Given the description of an element on the screen output the (x, y) to click on. 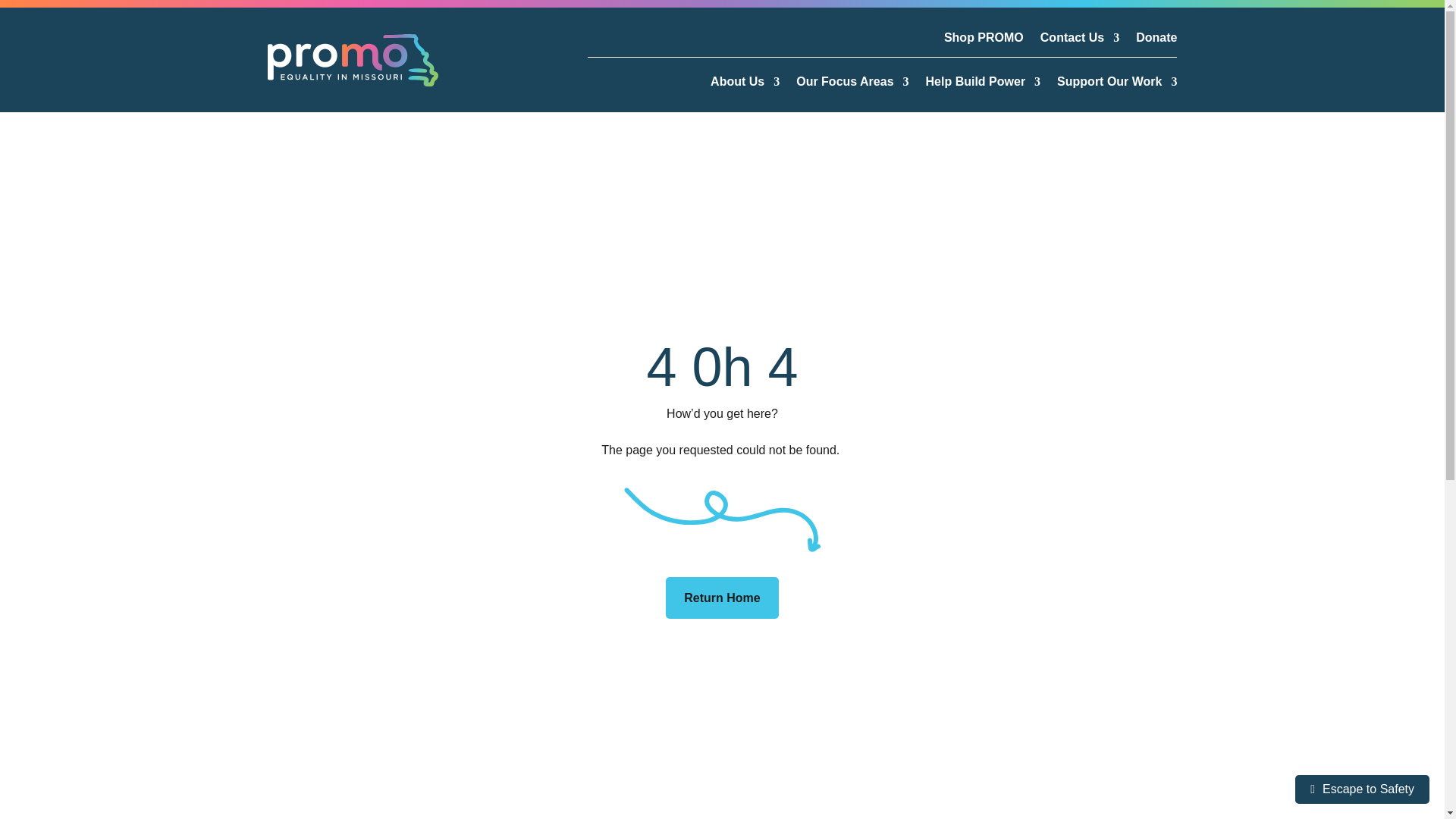
Contact Us (1080, 40)
About Us (744, 84)
Support Our Work (1116, 84)
blue-arrow (722, 519)
Help Build Power (983, 84)
Shop PROMO (983, 40)
Escape to Safety (1362, 788)
Donate (1155, 40)
Our Focus Areas (852, 84)
